Given the description of an element on the screen output the (x, y) to click on. 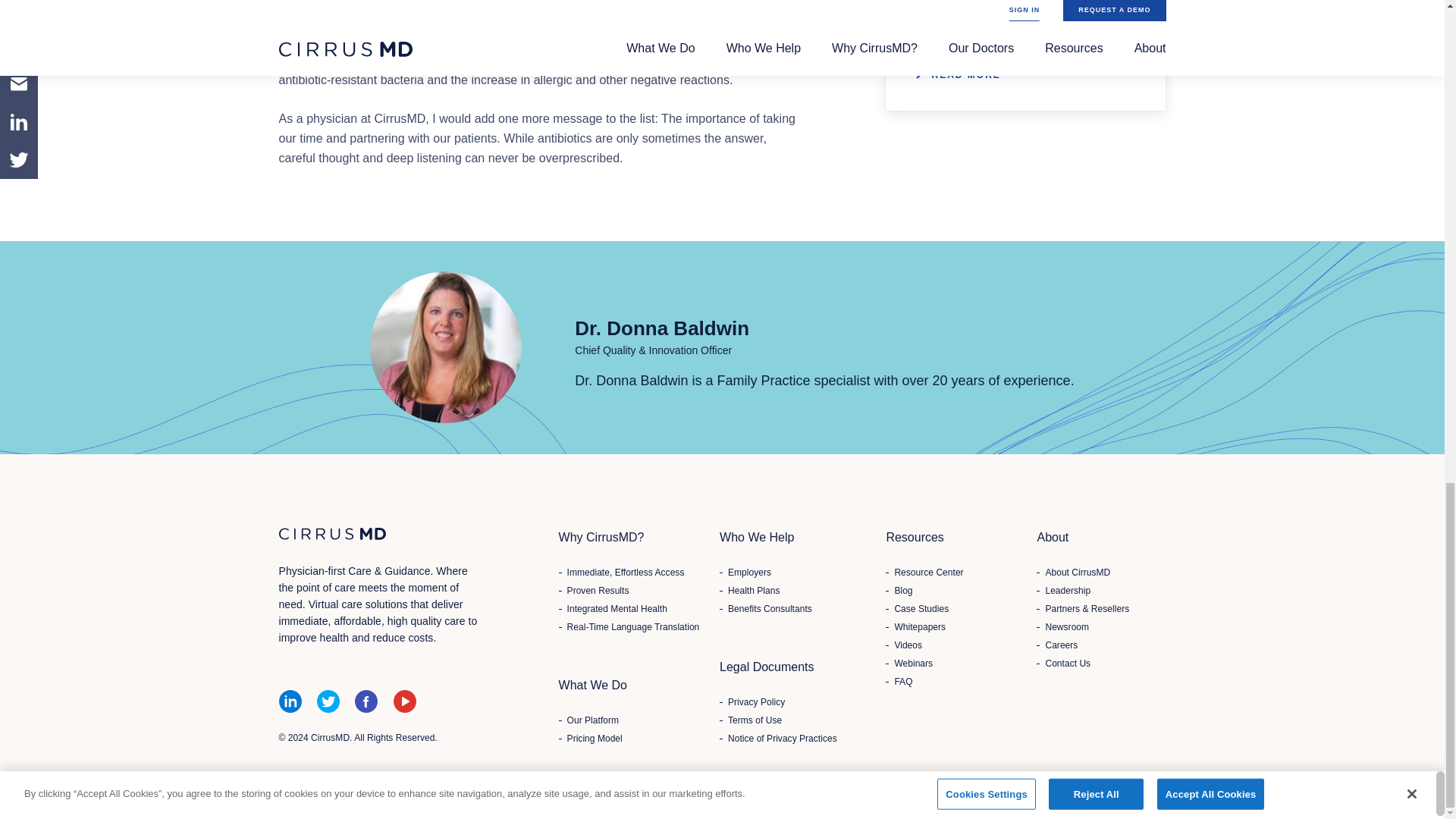
CirrusMD (332, 533)
